Given the description of an element on the screen output the (x, y) to click on. 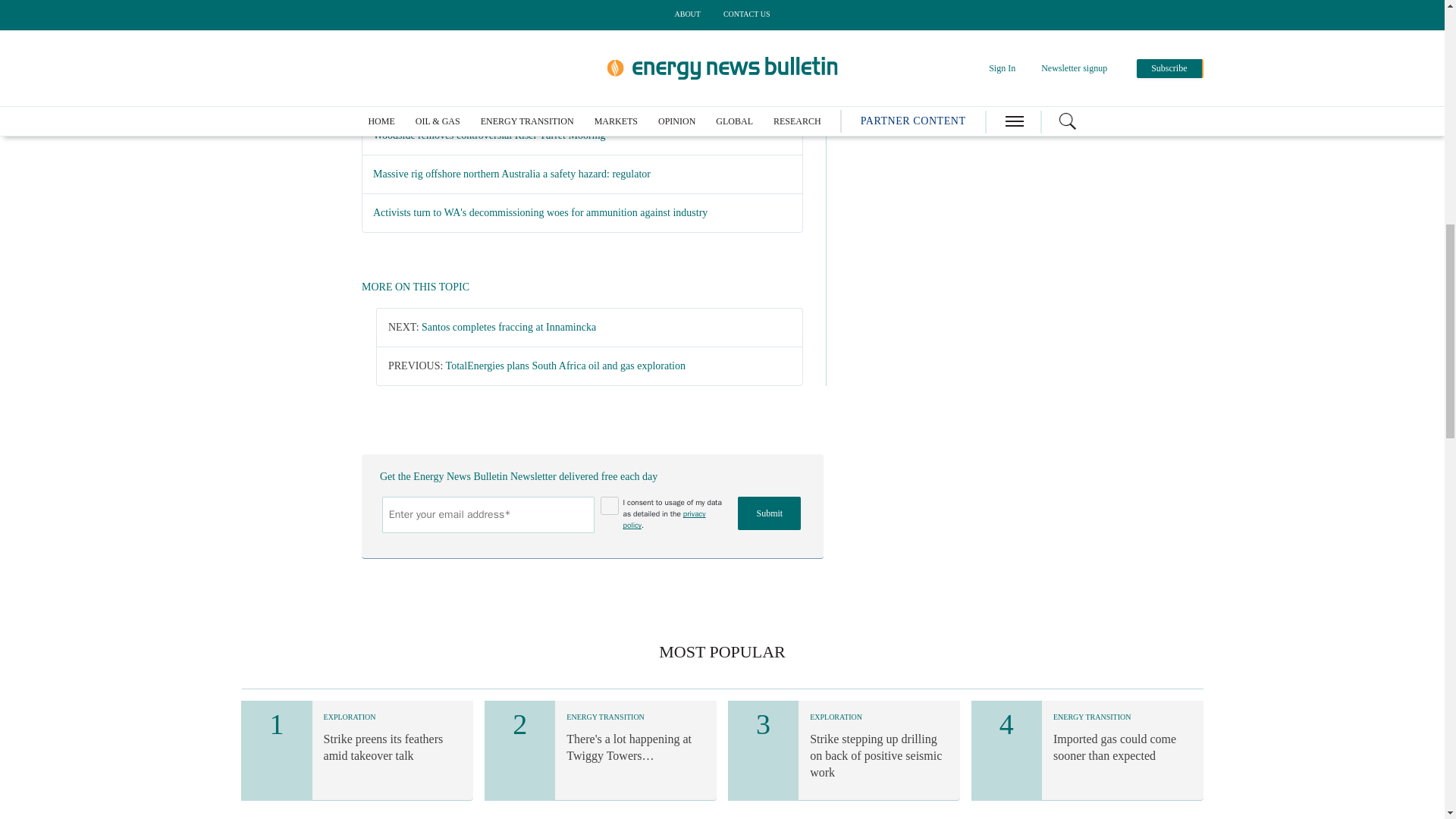
true (608, 505)
Submit (769, 512)
